Given the description of an element on the screen output the (x, y) to click on. 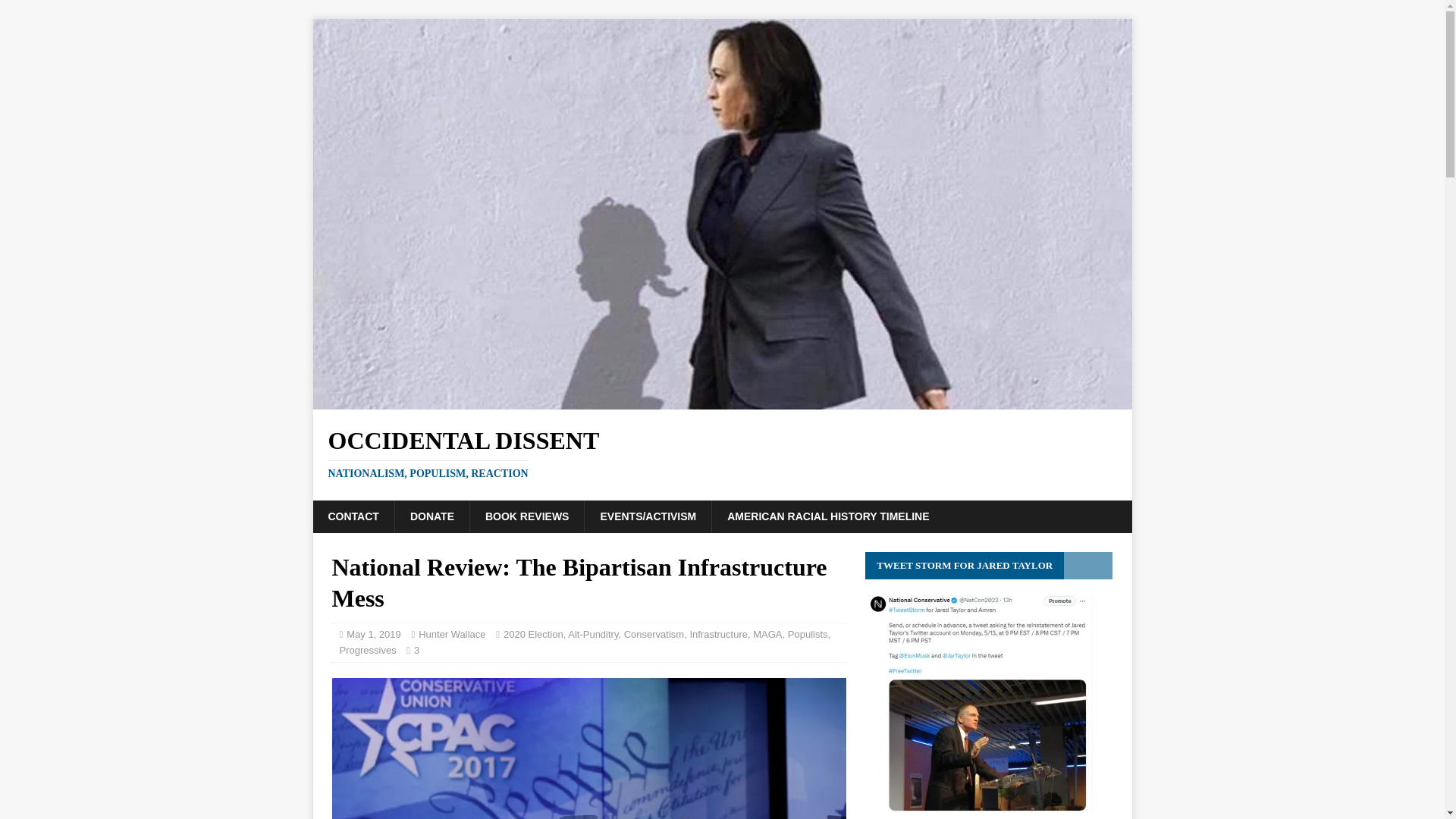
Conservatism (654, 633)
Populists (807, 633)
CONTACT (353, 516)
2020 Election (533, 633)
trump-cons (588, 748)
BOOK REVIEWS (525, 516)
DONATE (431, 516)
Alt-Punditry (592, 633)
AMERICAN RACIAL HISTORY TIMELINE (827, 516)
Infrastructure (718, 633)
